Given the description of an element on the screen output the (x, y) to click on. 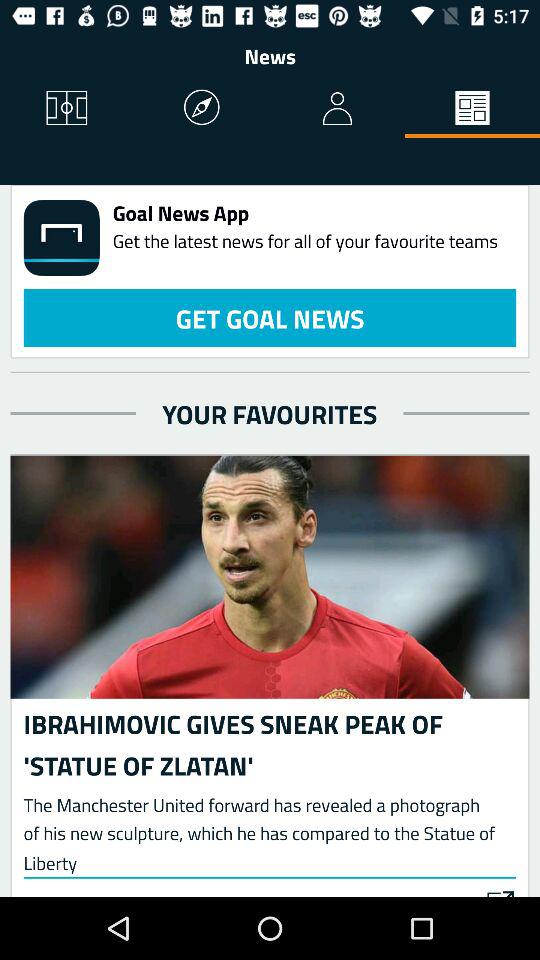
click the item above goal news app icon (472, 108)
